Given the description of an element on the screen output the (x, y) to click on. 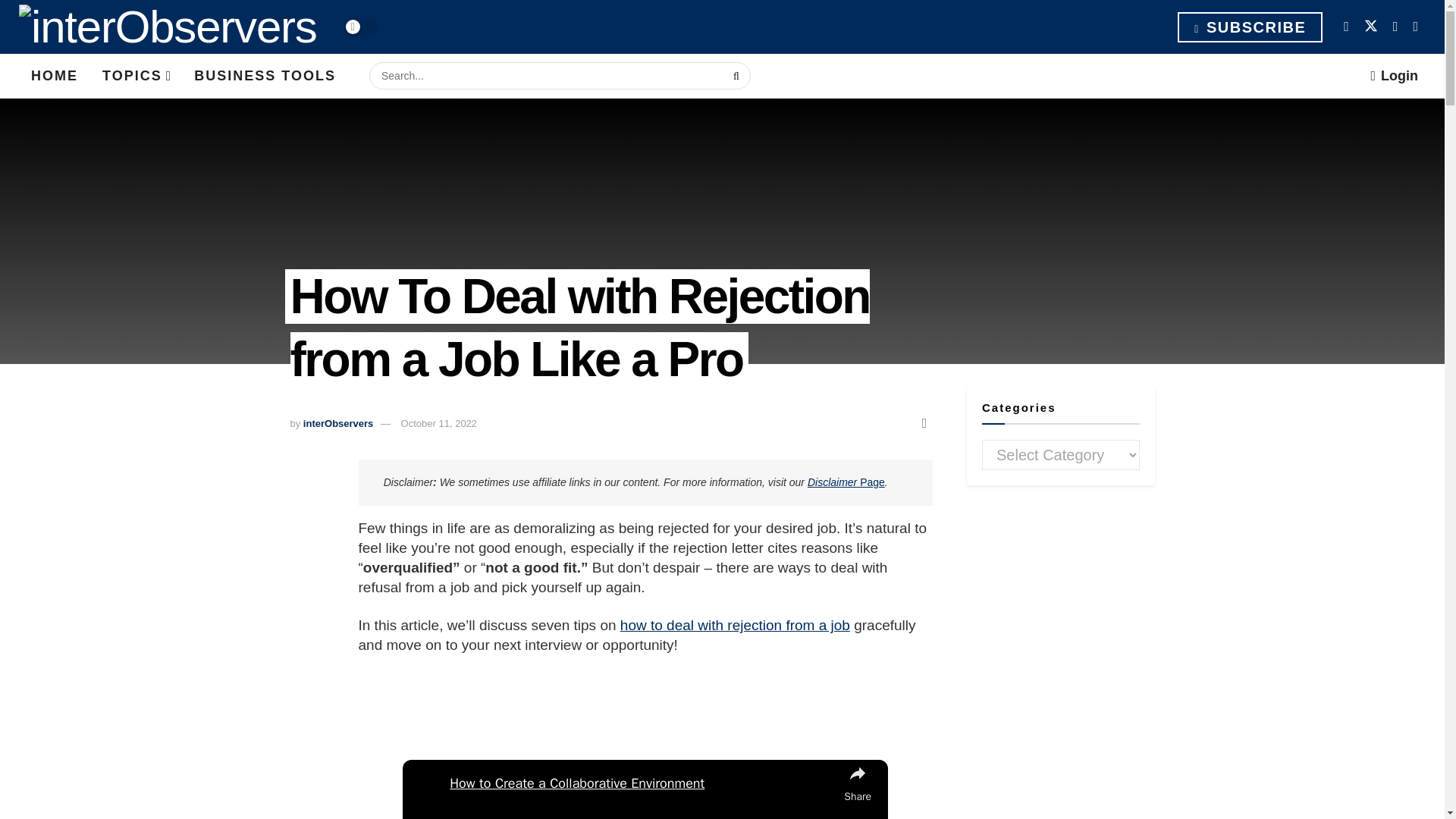
SUBSCRIBE (1249, 27)
BUSINESS TOOLS (264, 75)
TOPICS (136, 75)
Login (1394, 75)
HOME (54, 75)
